Given the description of an element on the screen output the (x, y) to click on. 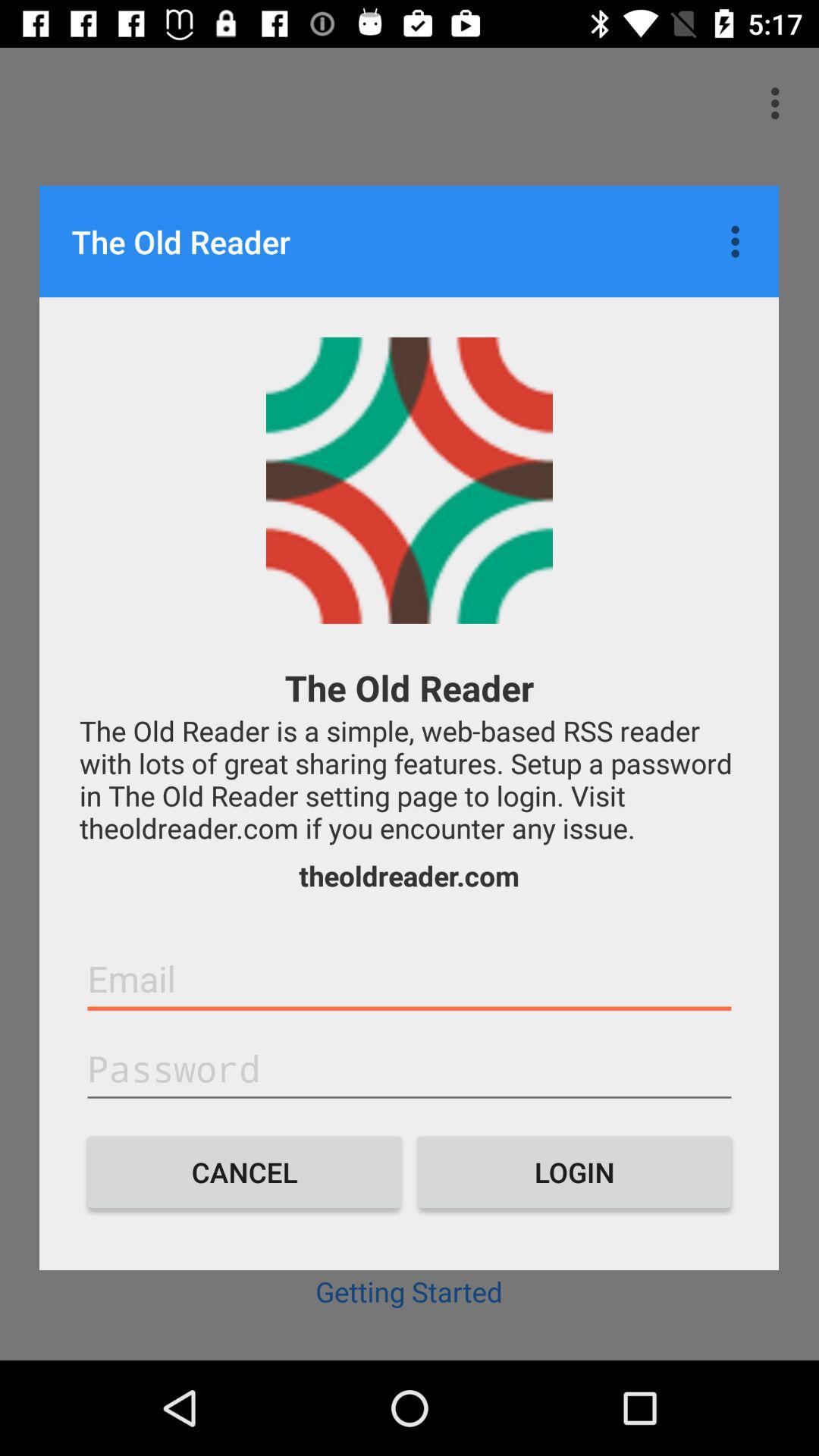
password button (409, 1069)
